Given the description of an element on the screen output the (x, y) to click on. 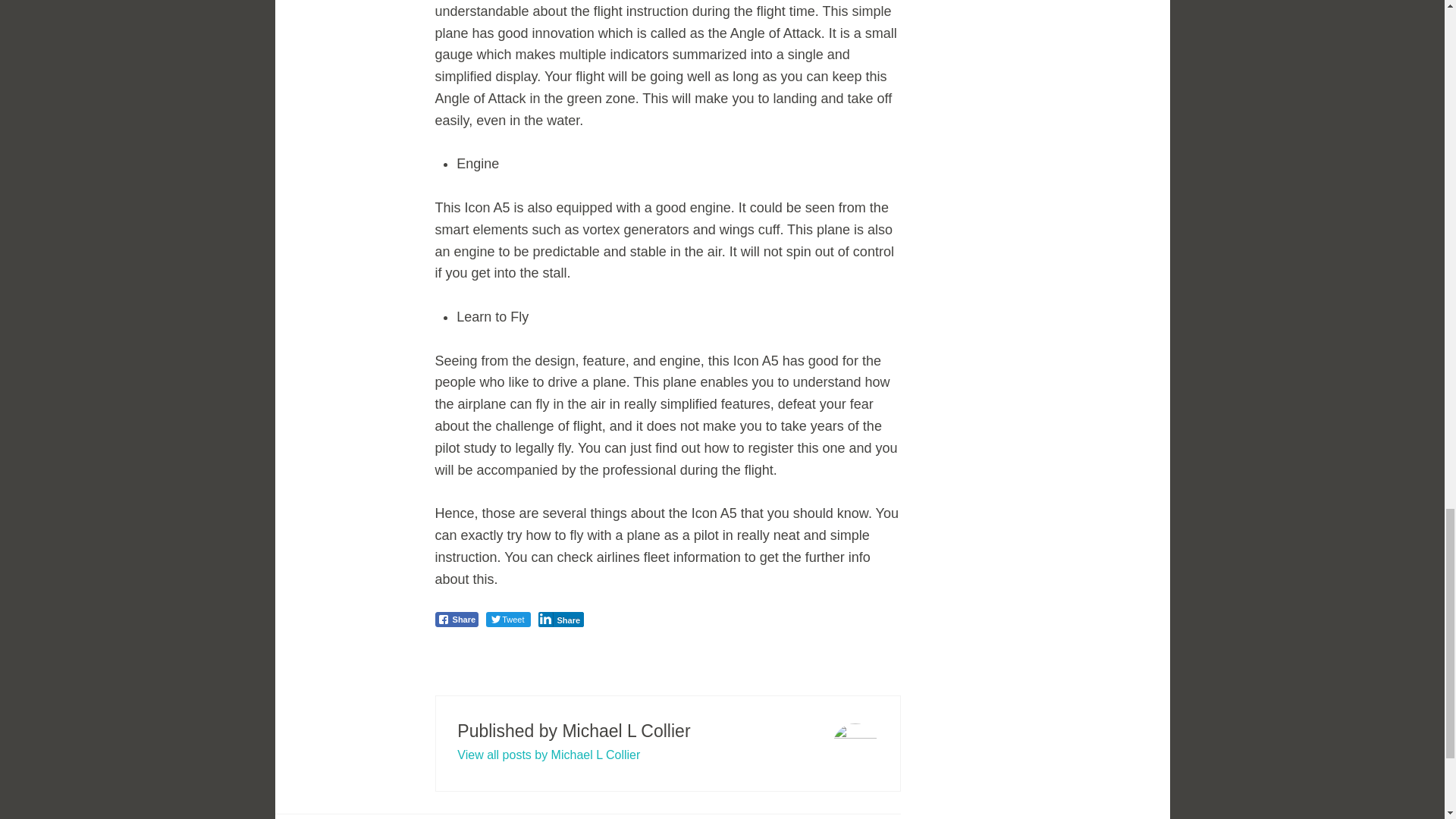
Share (561, 619)
View all posts by Michael L Collier (548, 754)
Tweet (507, 619)
Share (457, 619)
